Given the description of an element on the screen output the (x, y) to click on. 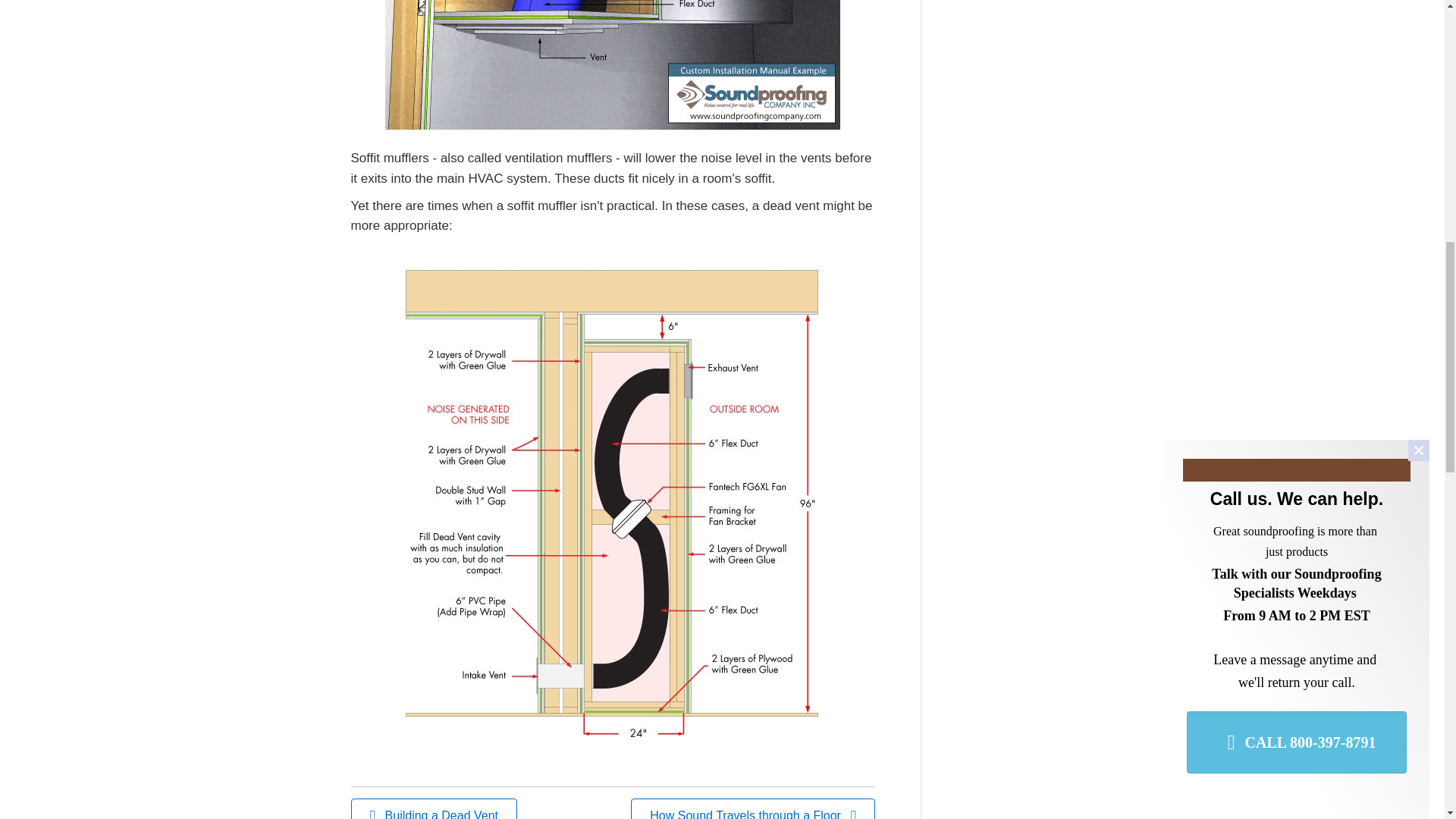
Building a Dead Vent (433, 808)
How Sound Travels through a Floor (752, 808)
Soffit mufflers for ventilation (612, 64)
